Given the description of an element on the screen output the (x, y) to click on. 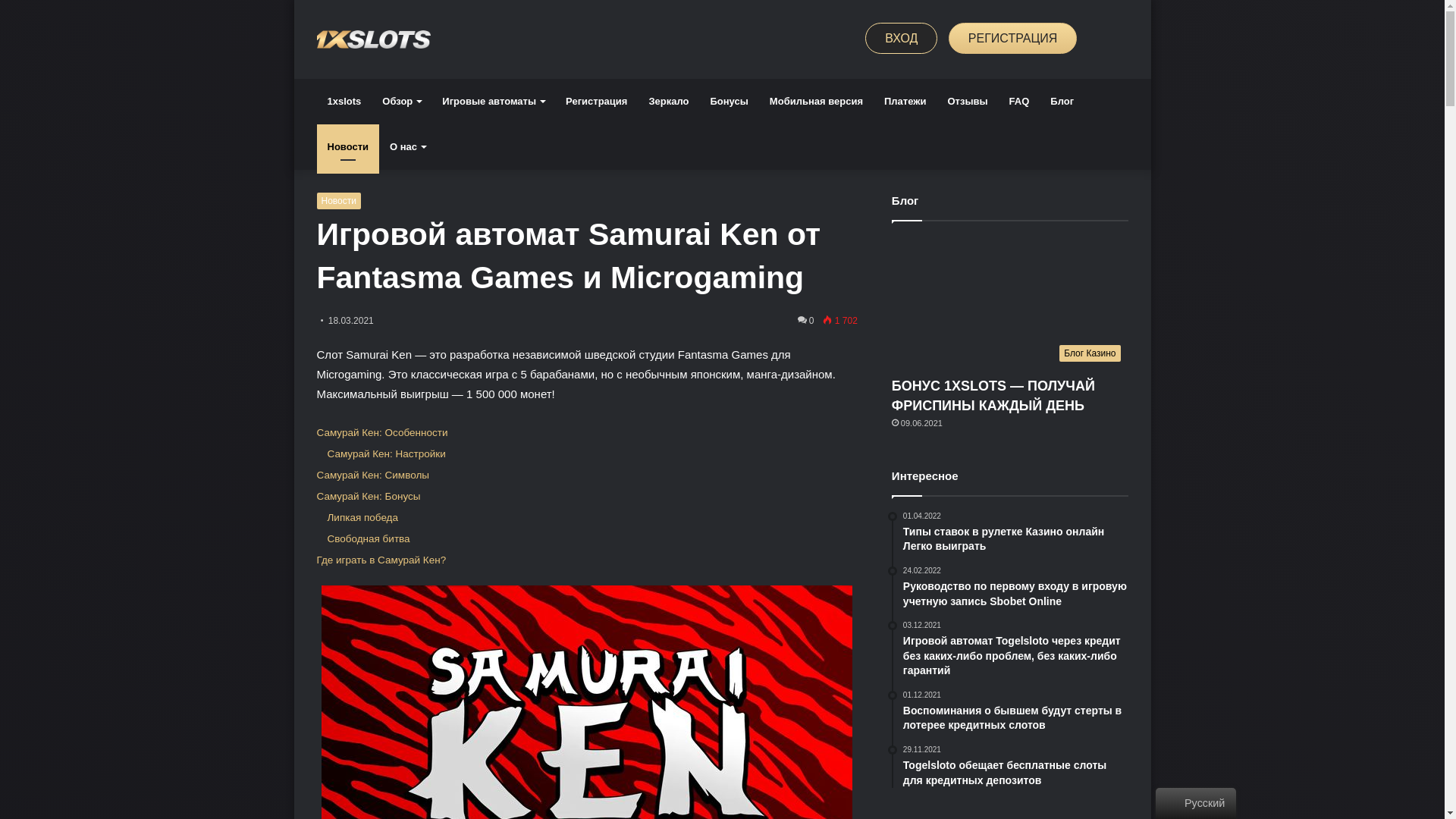
1xslots Element type: text (344, 101)
FAQ Element type: text (1019, 101)
